Given the description of an element on the screen output the (x, y) to click on. 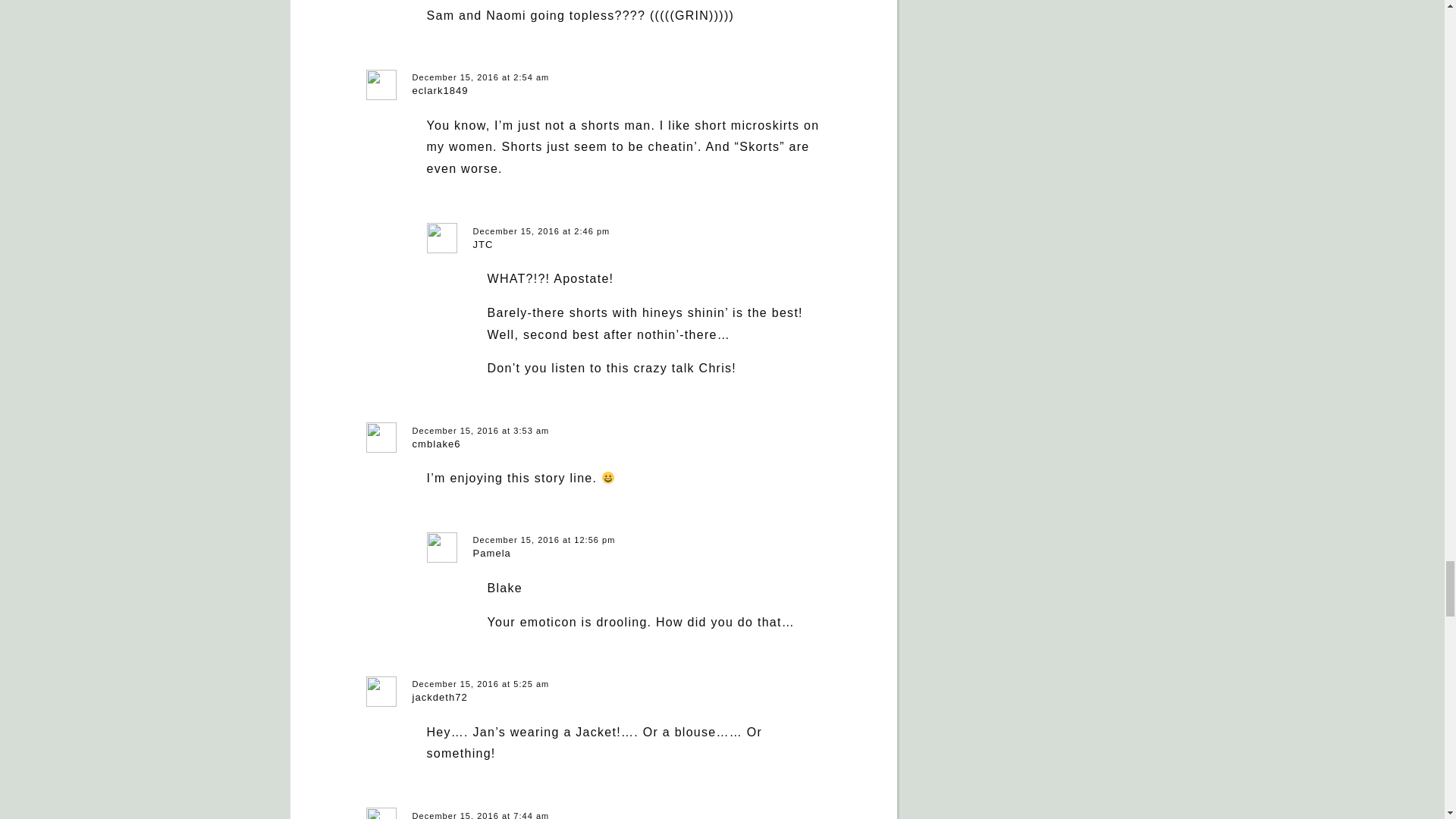
JTC (483, 243)
cmblake6 (436, 443)
